Given the description of an element on the screen output the (x, y) to click on. 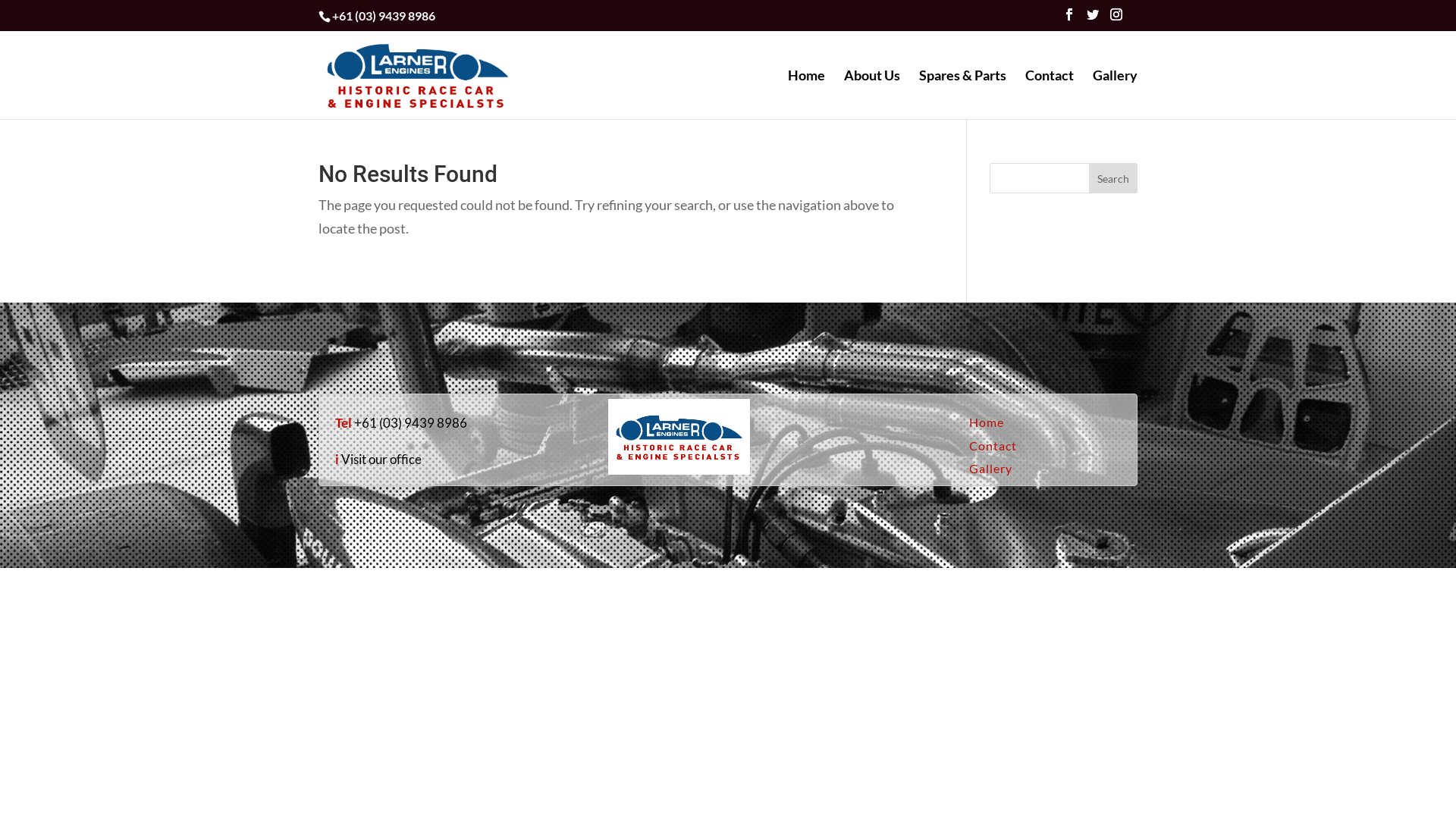
About Us Element type: text (872, 94)
Home Element type: text (806, 94)
Spares & Parts Element type: text (962, 94)
Contact Element type: text (1049, 94)
logo2 Element type: hover (679, 436)
Gallery Element type: text (1114, 94)
Contact Element type: text (992, 445)
Search Element type: text (1112, 178)
Gallery Element type: text (990, 468)
Home Element type: text (986, 421)
